Given the description of an element on the screen output the (x, y) to click on. 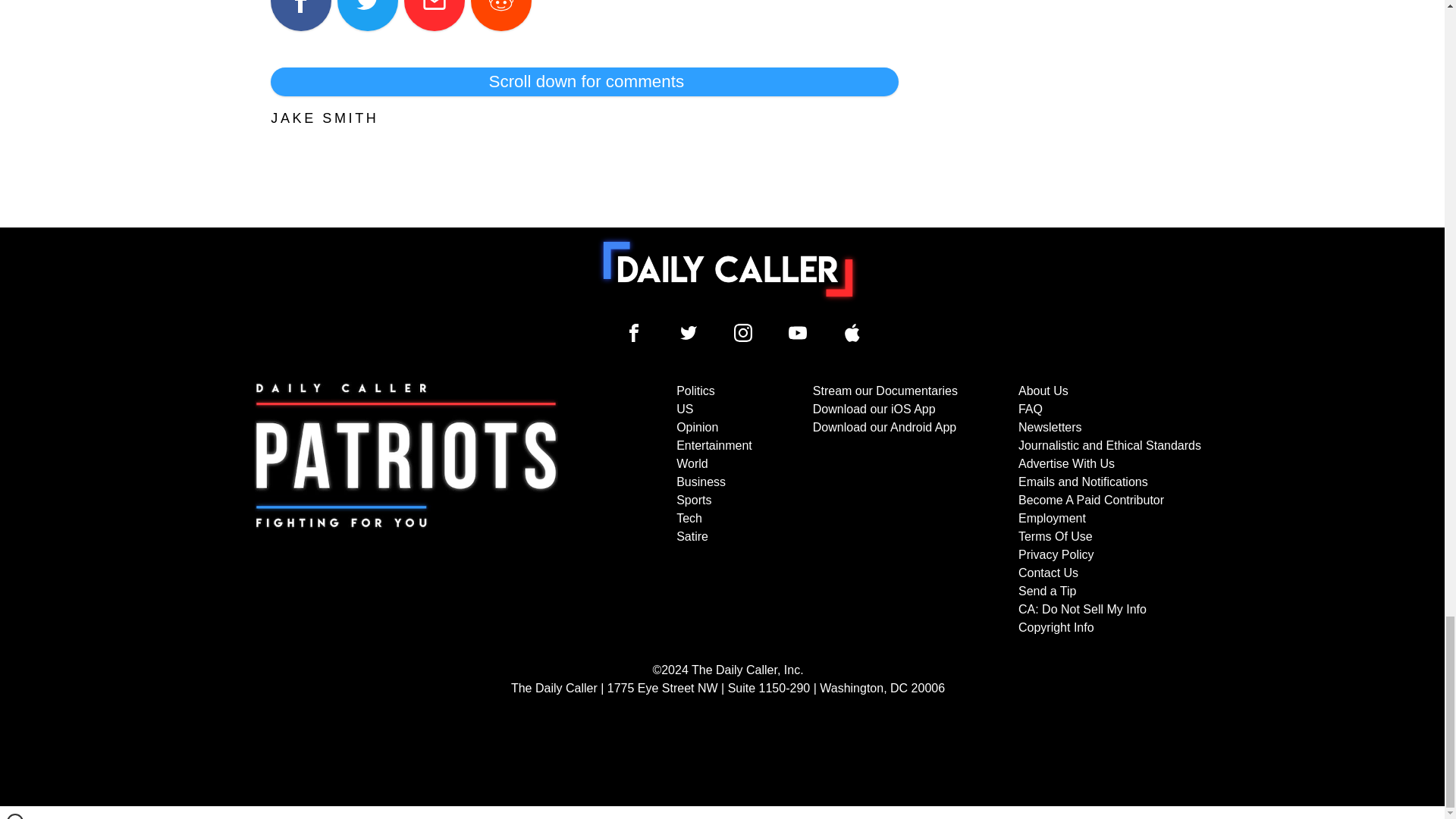
Daily Caller YouTube (797, 332)
Scroll down for comments (584, 81)
Daily Caller YouTube (852, 332)
Daily Caller Instagram (742, 332)
Daily Caller Facebook (633, 332)
Daily Caller Twitter (688, 332)
Subscribe to The Daily Caller (405, 509)
To home page (727, 268)
